Given the description of an element on the screen output the (x, y) to click on. 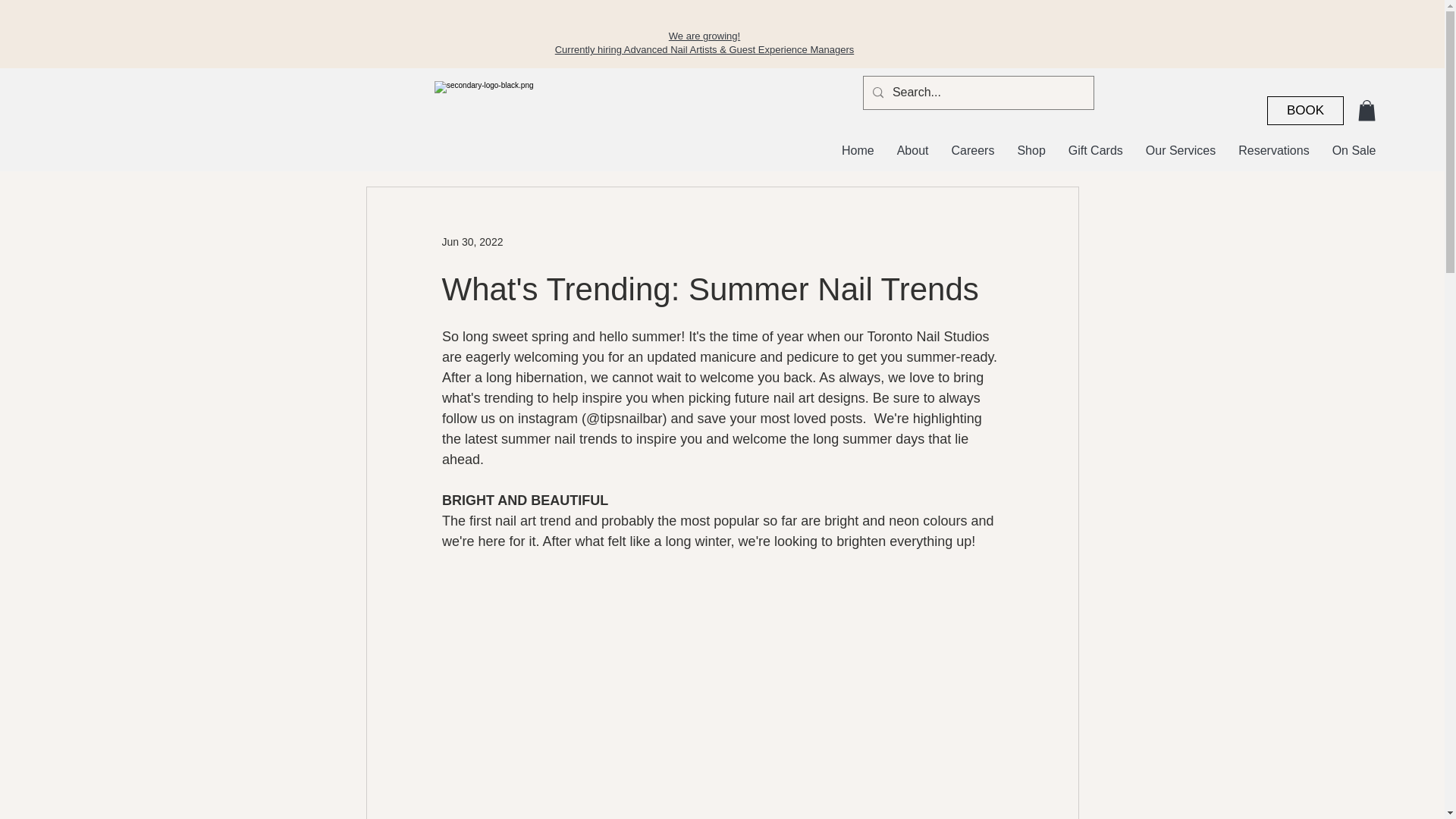
BOOK (1304, 110)
Jun 30, 2022 (471, 241)
Careers (973, 152)
Home (857, 152)
On Sale (1353, 152)
About (912, 152)
Shop (1031, 152)
Gift Cards (1095, 152)
Our Services (1180, 152)
Reservations (1273, 152)
